Given the description of an element on the screen output the (x, y) to click on. 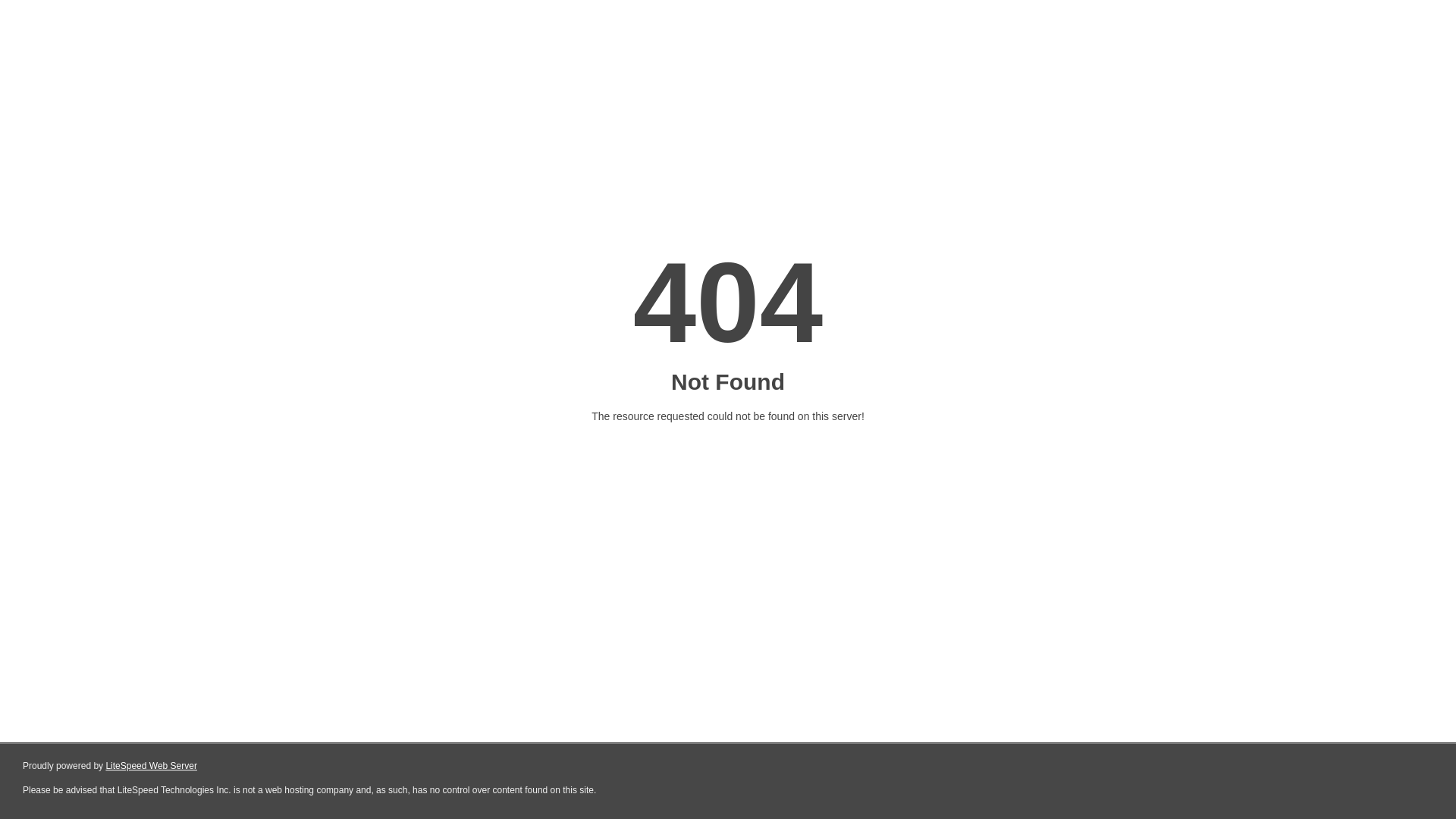
LiteSpeed Web Server Element type: text (151, 765)
